Given the description of an element on the screen output the (x, y) to click on. 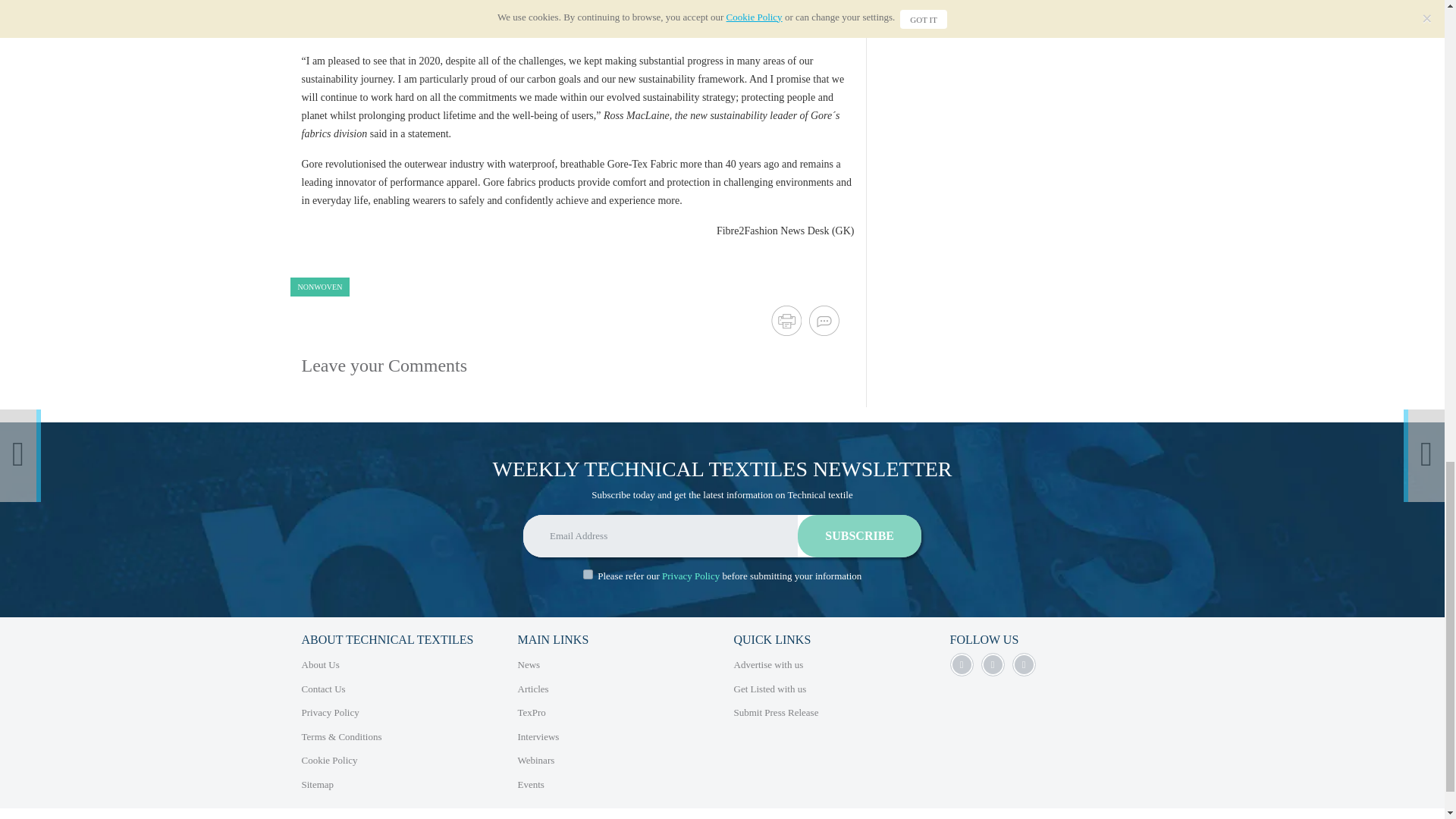
NONWOVEN (319, 286)
yes (587, 574)
